Given the description of an element on the screen output the (x, y) to click on. 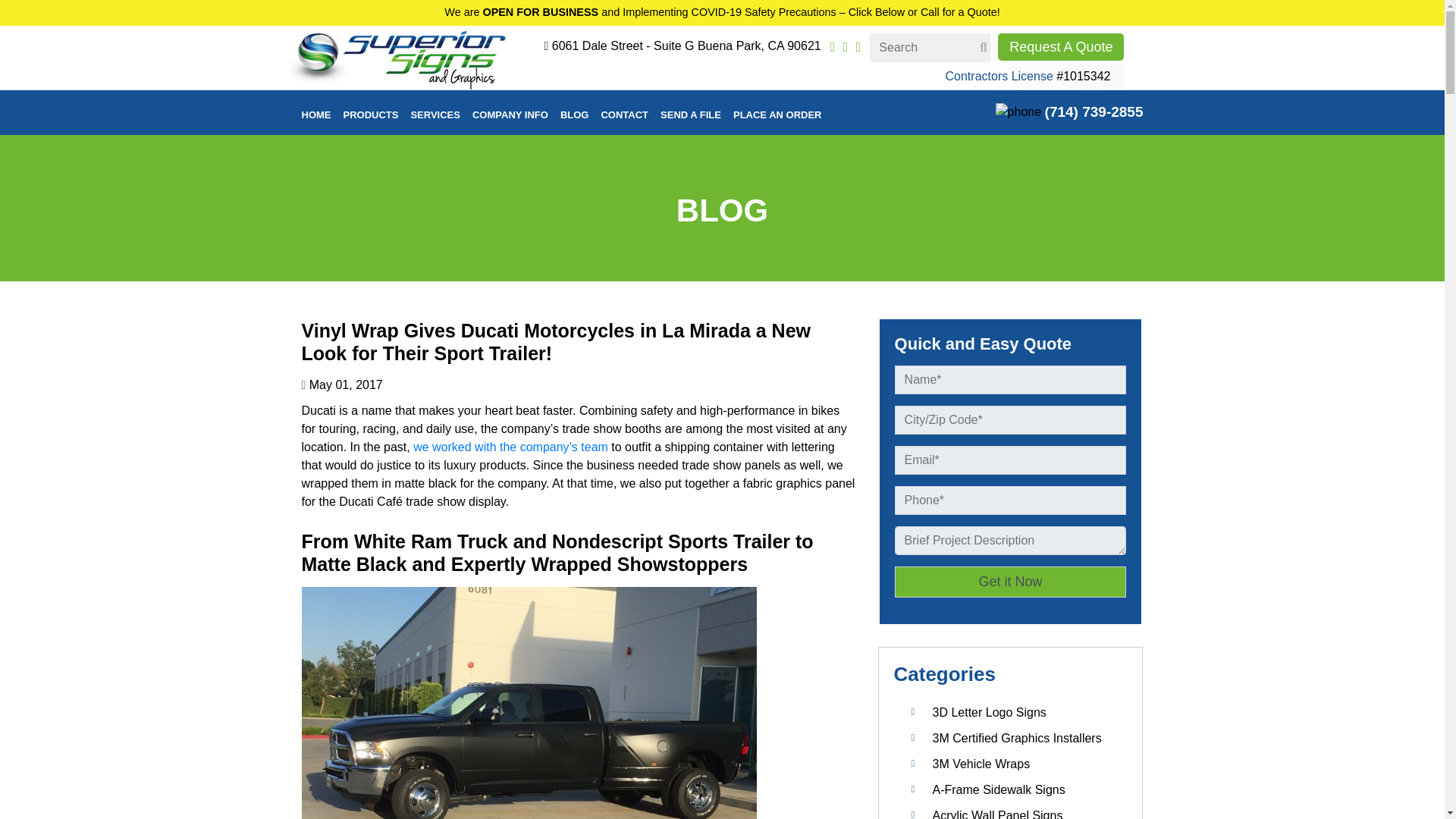
Get it Now (1010, 581)
PRODUCTS (369, 112)
Request A Quote (1060, 46)
